Given the description of an element on the screen output the (x, y) to click on. 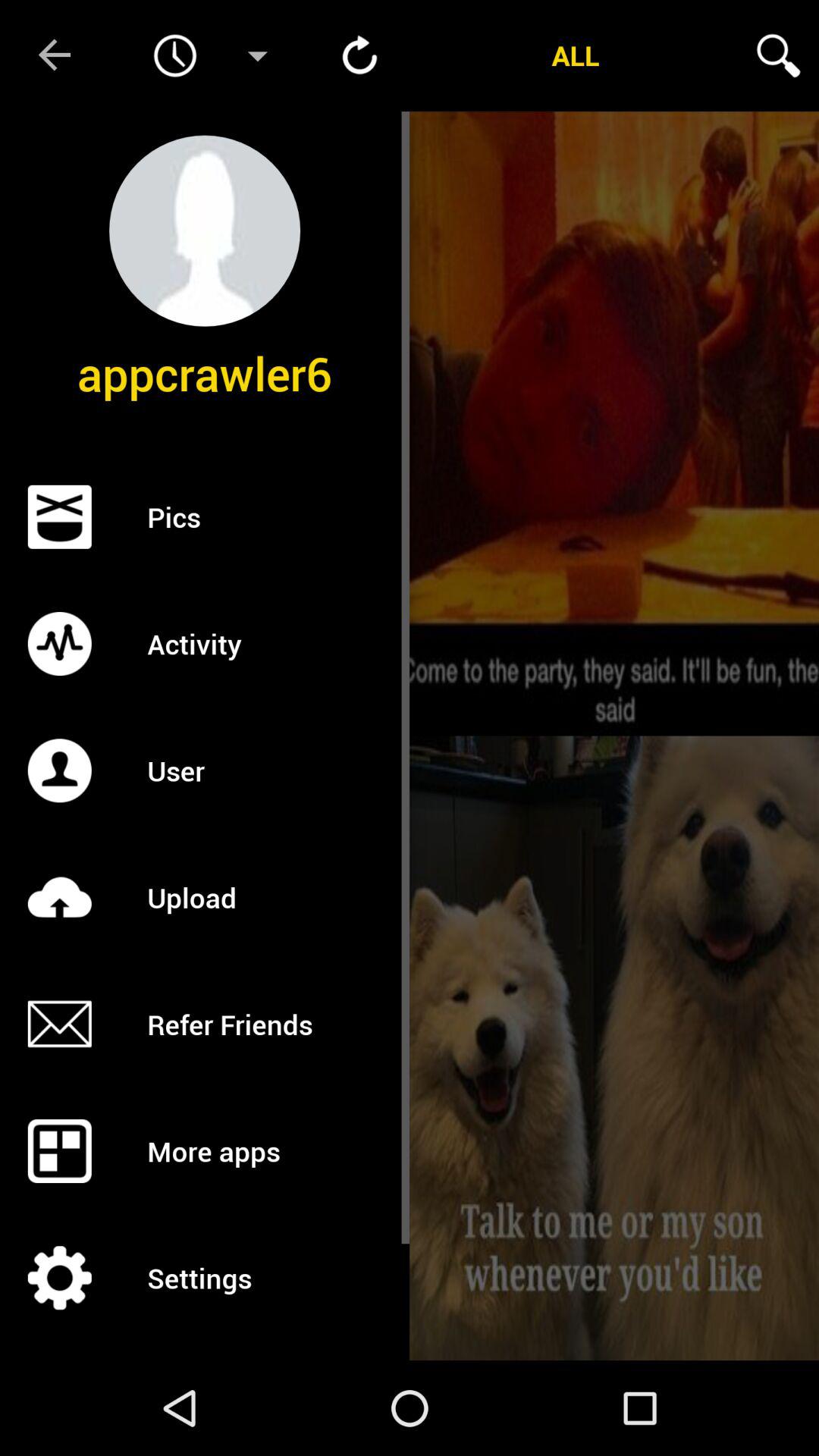
profile image (204, 230)
